Given the description of an element on the screen output the (x, y) to click on. 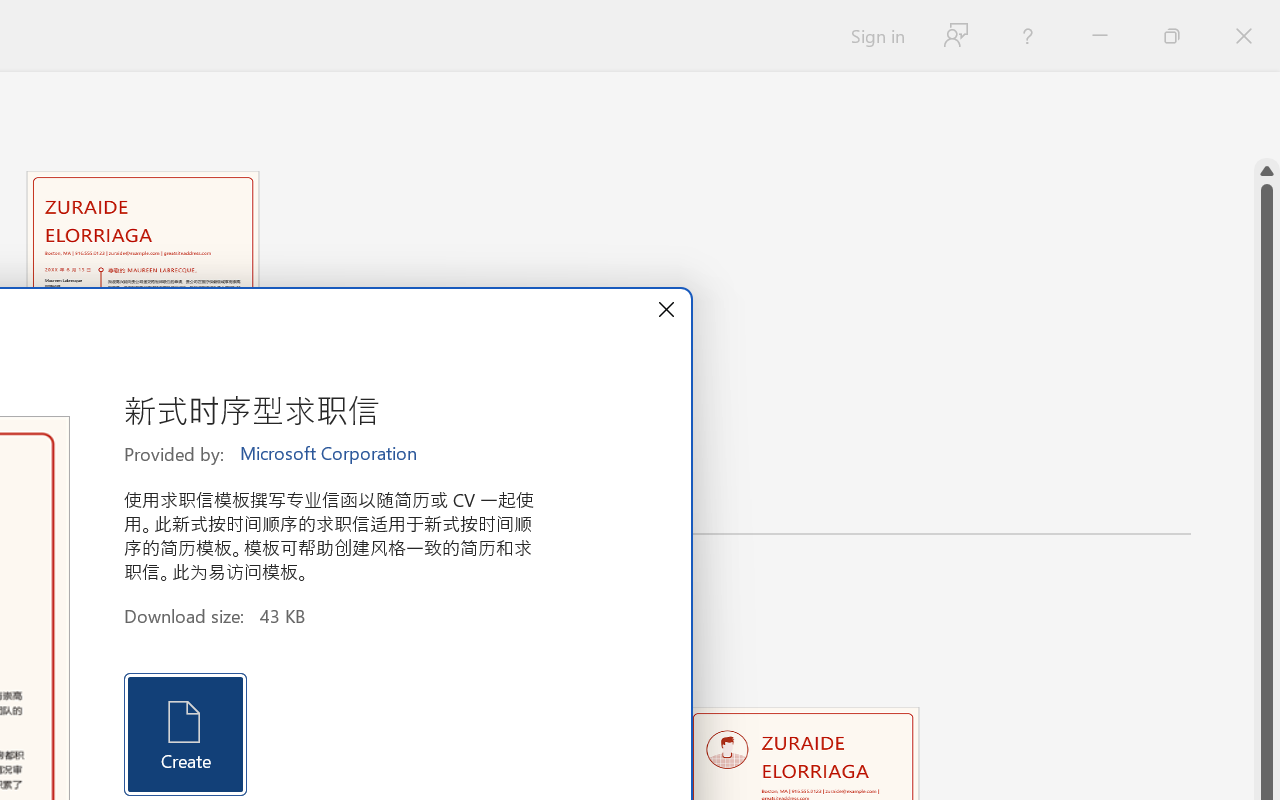
Create (185, 734)
Microsoft Corporation (330, 454)
Line up (1267, 171)
